Given the description of an element on the screen output the (x, y) to click on. 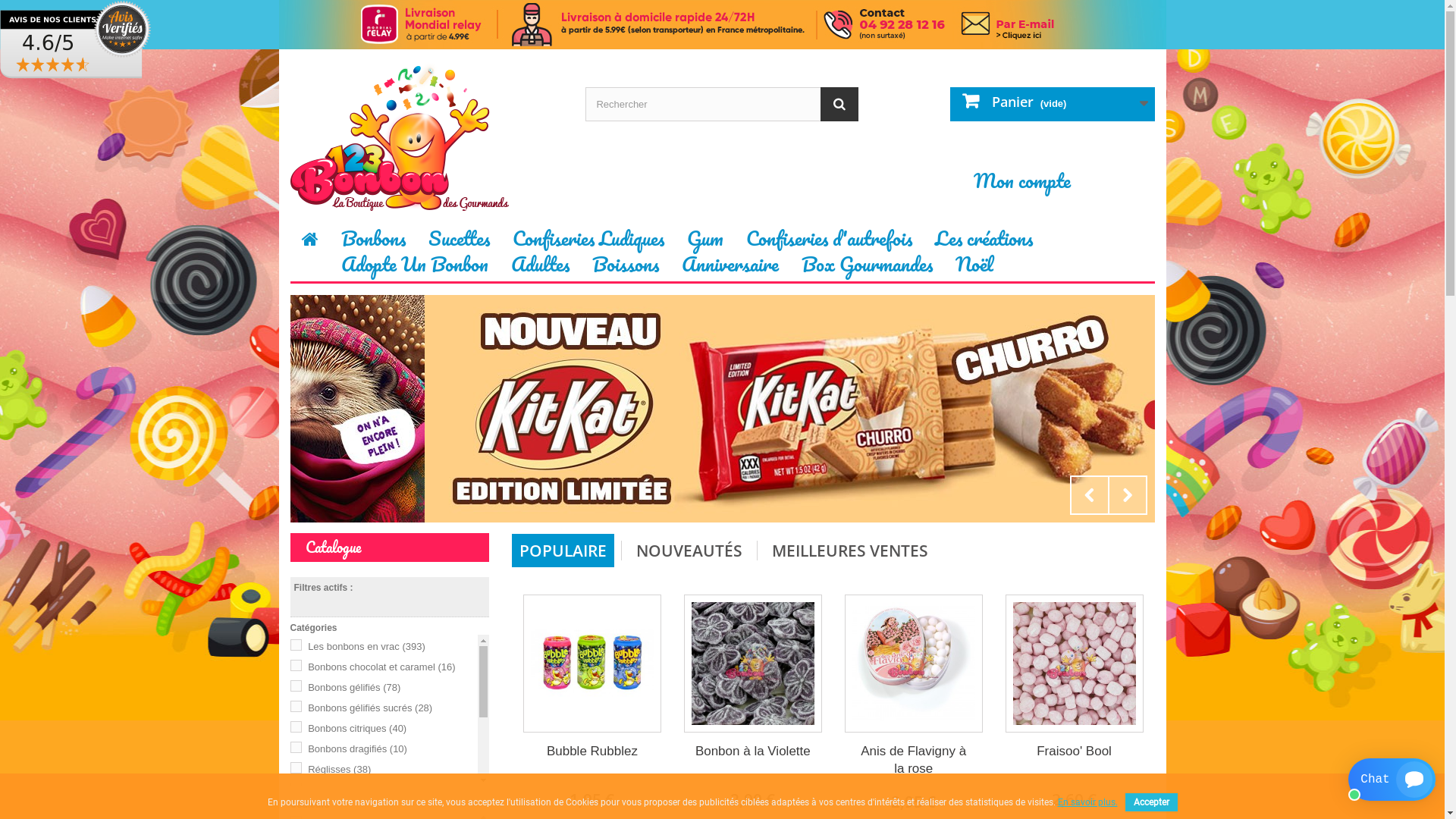
Next Element type: text (1126, 494)
Confiseries d'autrefois Element type: text (828, 243)
Panier (vide) Element type: text (1051, 104)
123bonbon Element type: hover (722, 24)
Les bonbons en vrac (393) Element type: text (366, 646)
Bonbons citriques (40) Element type: text (356, 728)
Anniversaire Element type: text (730, 269)
Accepter Element type: text (1151, 802)
Adopte Un Bonbon Element type: text (413, 269)
Bubble Rubblez Element type: text (591, 750)
Smartsupp widget button Element type: hover (1391, 779)
Bubble Rubblez Element type: hover (591, 663)
Prev Element type: text (1088, 494)
Fraisoo' Bool Element type: text (1074, 750)
Bonbons Element type: text (372, 243)
Fraisoo' Bool Element type: hover (1074, 663)
Guimauves (23) Element type: text (342, 789)
Box Gourmandes Element type: text (867, 269)
123bonbon Element type: hover (425, 135)
MEILLEURES VENTES Element type: text (849, 550)
Gum Element type: text (704, 243)
Sucettes Element type: text (459, 243)
Boissons Element type: text (625, 269)
Confiseries Ludiques Element type: text (587, 243)
Lassos & Bandeaux (20) Element type: text (361, 809)
Bonbons chocolat et caramel (16) Element type: text (381, 666)
POPULAIRE Element type: text (562, 550)
En savoir plus. Element type: text (1087, 801)
Adultes Element type: text (539, 269)
Mon compte Element type: text (1022, 180)
